Given the description of an element on the screen output the (x, y) to click on. 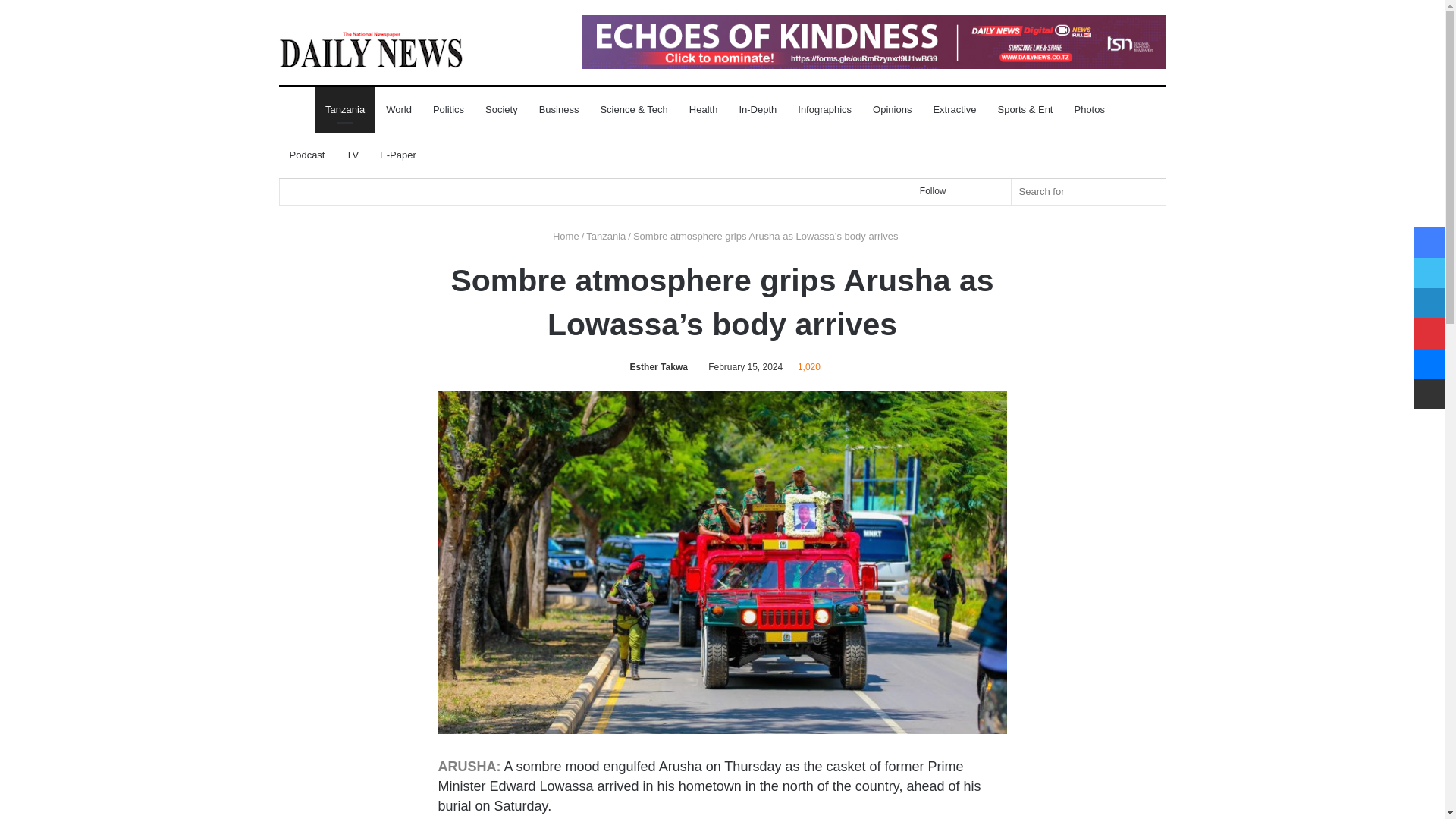
Search for (1088, 191)
In-Depth (757, 109)
Extractive (954, 109)
Follow (927, 191)
Business (558, 109)
Esther Takwa (655, 366)
Home (563, 235)
Tanzania (344, 109)
Podcast (307, 155)
Search for (1149, 191)
